Given the description of an element on the screen output the (x, y) to click on. 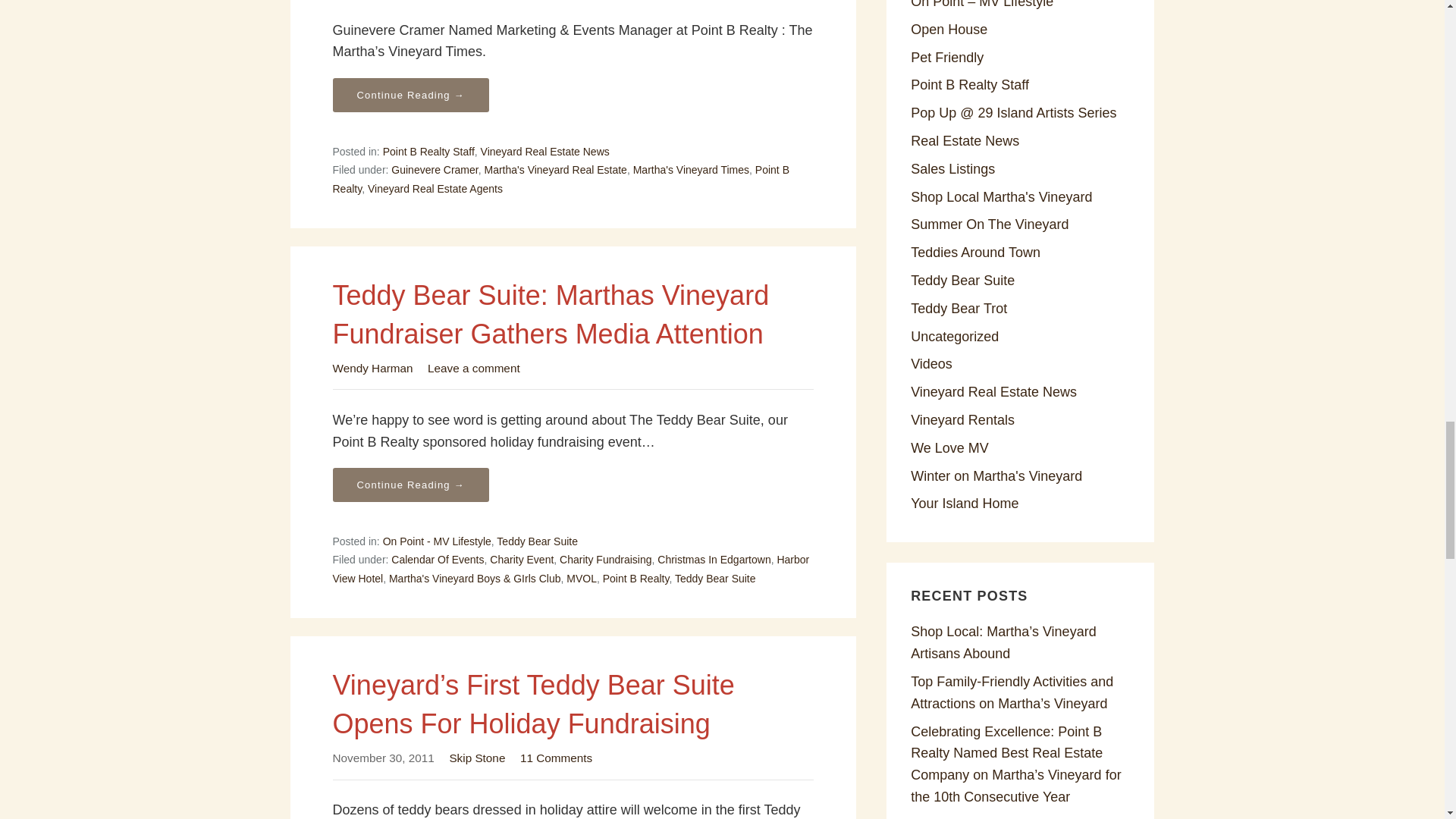
Posts by Skip Stone (476, 757)
Posts by Wendy Harman (371, 367)
